Given the description of an element on the screen output the (x, y) to click on. 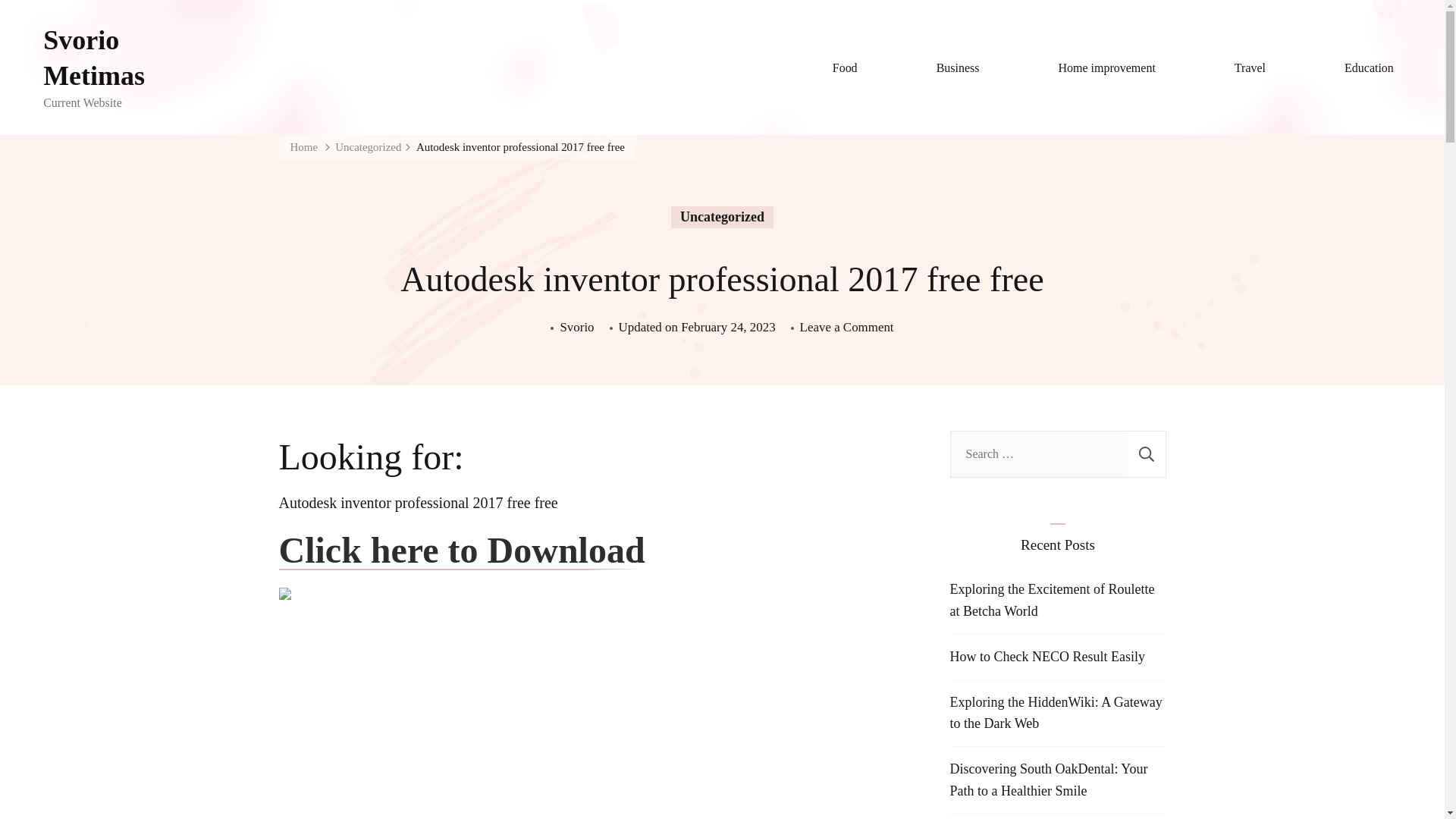
Svorio Metimas (119, 58)
Food (844, 67)
Autodesk inventor professional 2017 free free (520, 146)
Business (957, 67)
Home improvement (1107, 67)
Click here to Download (462, 551)
Home (303, 146)
Travel (1249, 67)
Uncategorized (722, 217)
Exploring the HiddenWiki: A Gateway to the Dark Web (1055, 713)
